Given the description of an element on the screen output the (x, y) to click on. 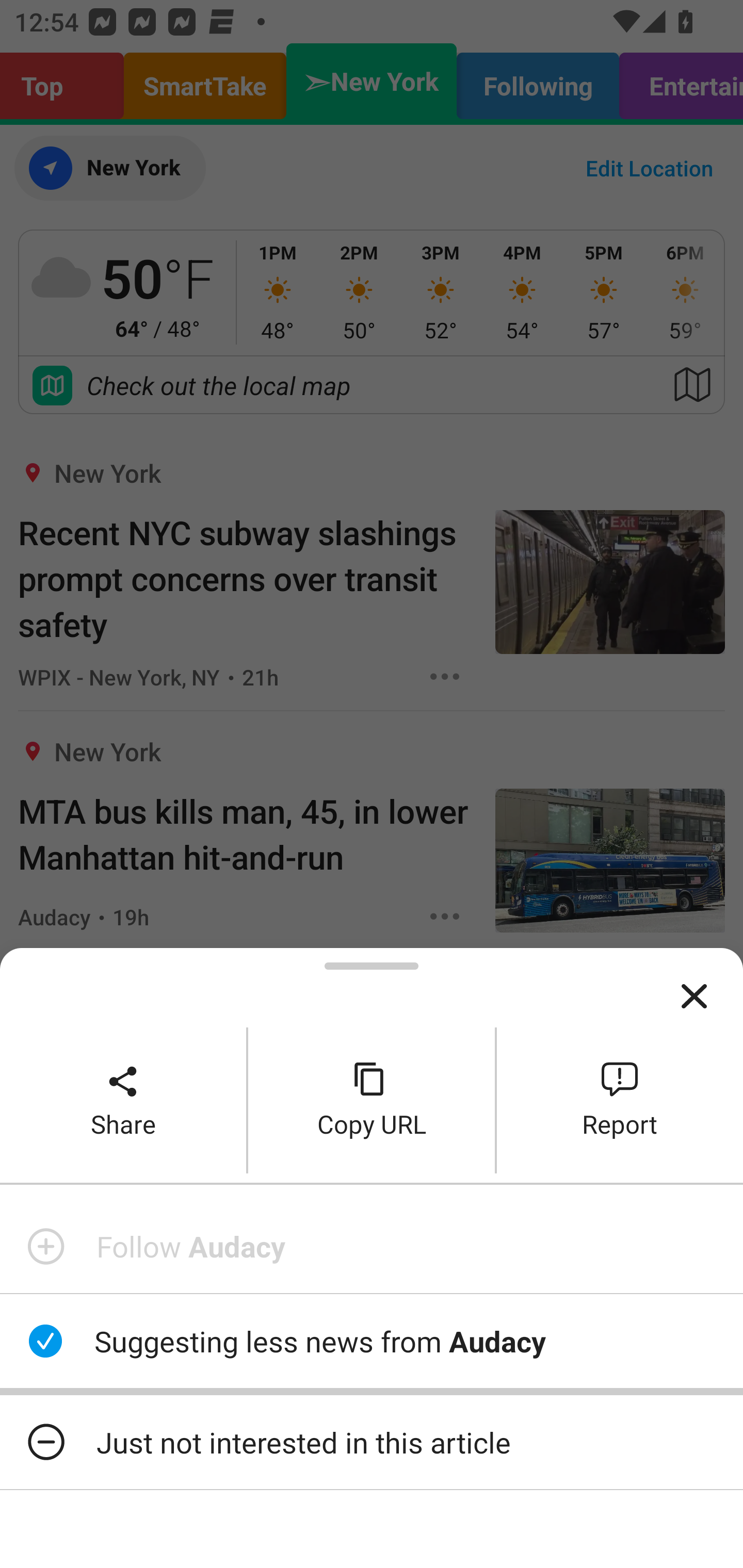
Close (694, 996)
Share (122, 1099)
Copy URL (371, 1099)
Report (620, 1099)
Follow Audacy (371, 1246)
Suggesting less news from Audacy (371, 1340)
Just not interested in this article (371, 1442)
